Given the description of an element on the screen output the (x, y) to click on. 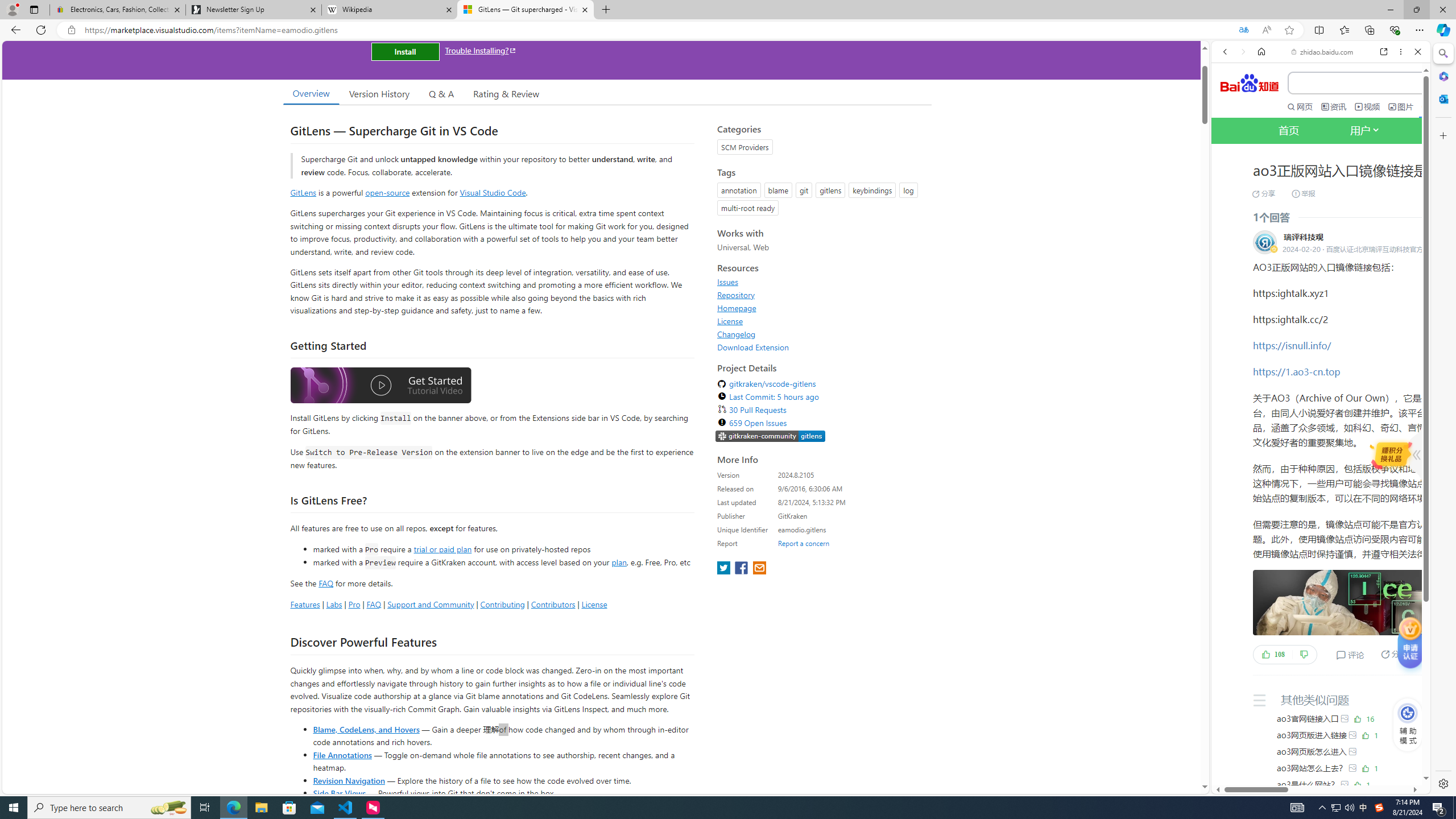
Web scope (1230, 102)
Close (1417, 51)
Settings and more (Alt+F) (1419, 29)
Cambridge Dictionary (1315, 397)
